Given the description of an element on the screen output the (x, y) to click on. 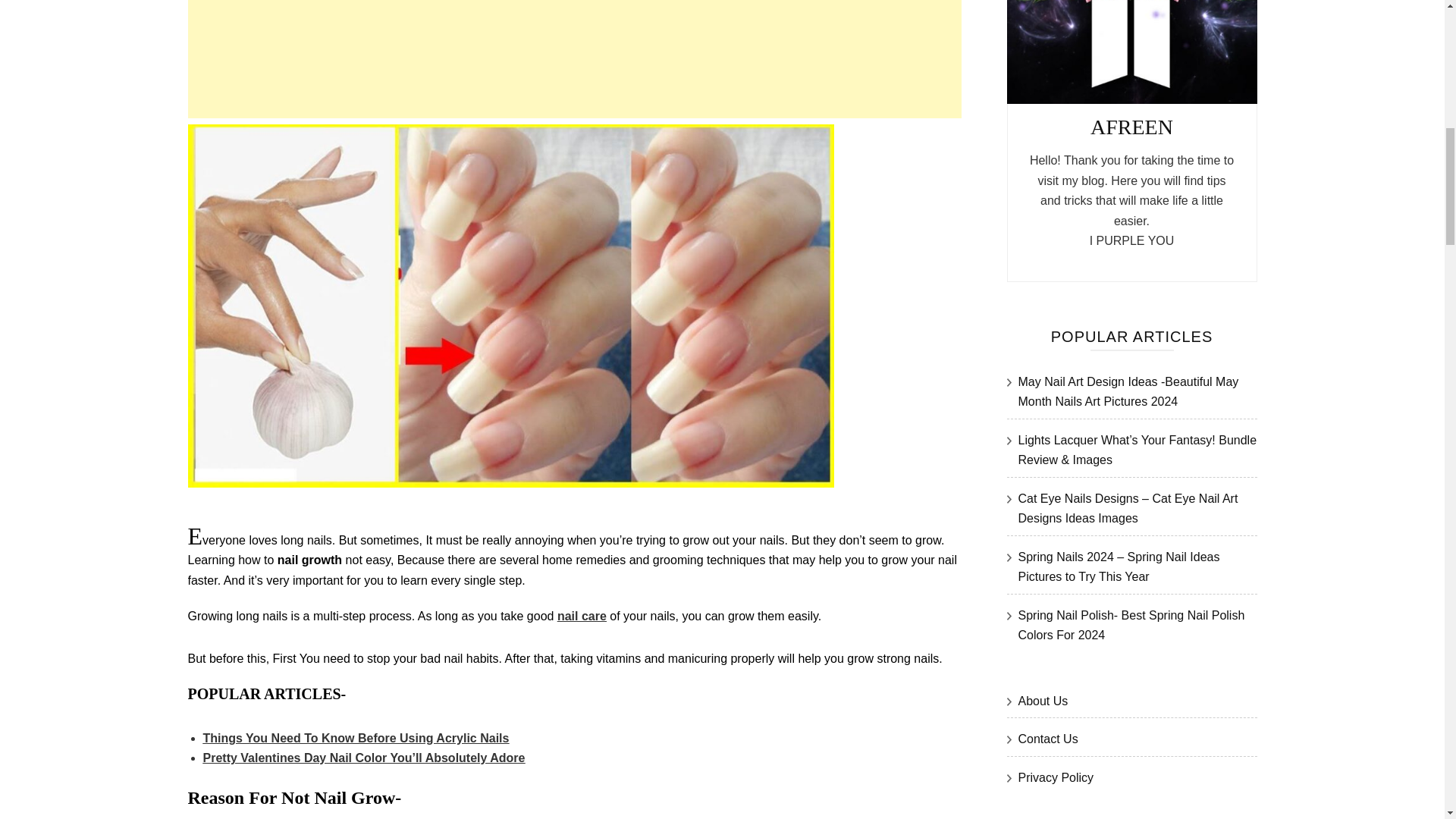
Things You Need To Know Before Using Acrylic Nails (356, 738)
nail care (582, 615)
Advertisement (573, 58)
